Given the description of an element on the screen output the (x, y) to click on. 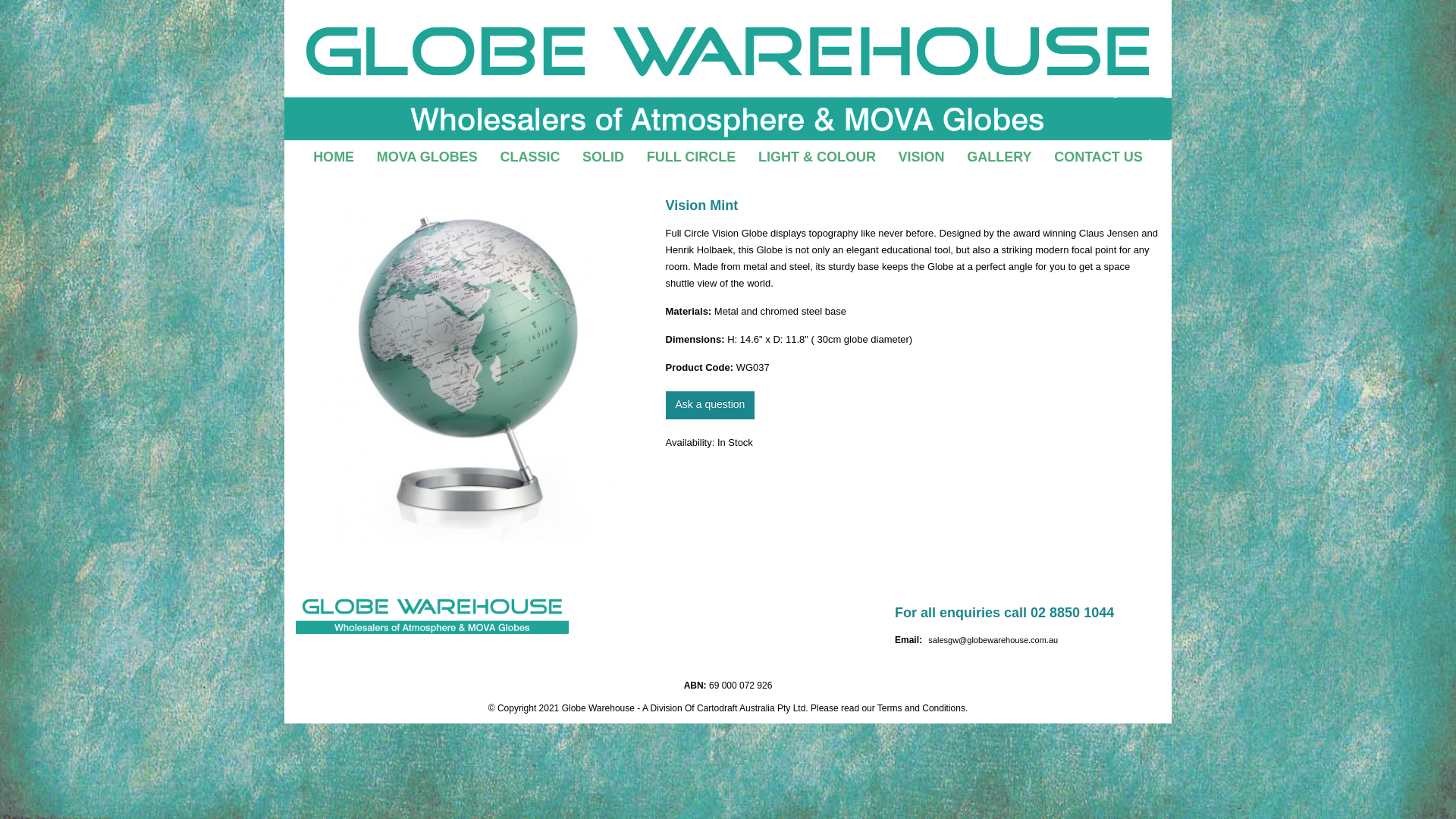
FULL CIRCLE (691, 157)
VISION (921, 157)
CLASSIC (529, 157)
Vision Mint (469, 371)
Please read our Terms and Conditions. (889, 707)
Your Store (432, 611)
HOME (333, 157)
Globe Warehouse (727, 70)
Ask a question (710, 405)
GALLERY (998, 157)
SOLID (602, 157)
MOVA GLOBES (426, 157)
CONTACT US (1098, 157)
Vision Mint (469, 372)
